Given the description of an element on the screen output the (x, y) to click on. 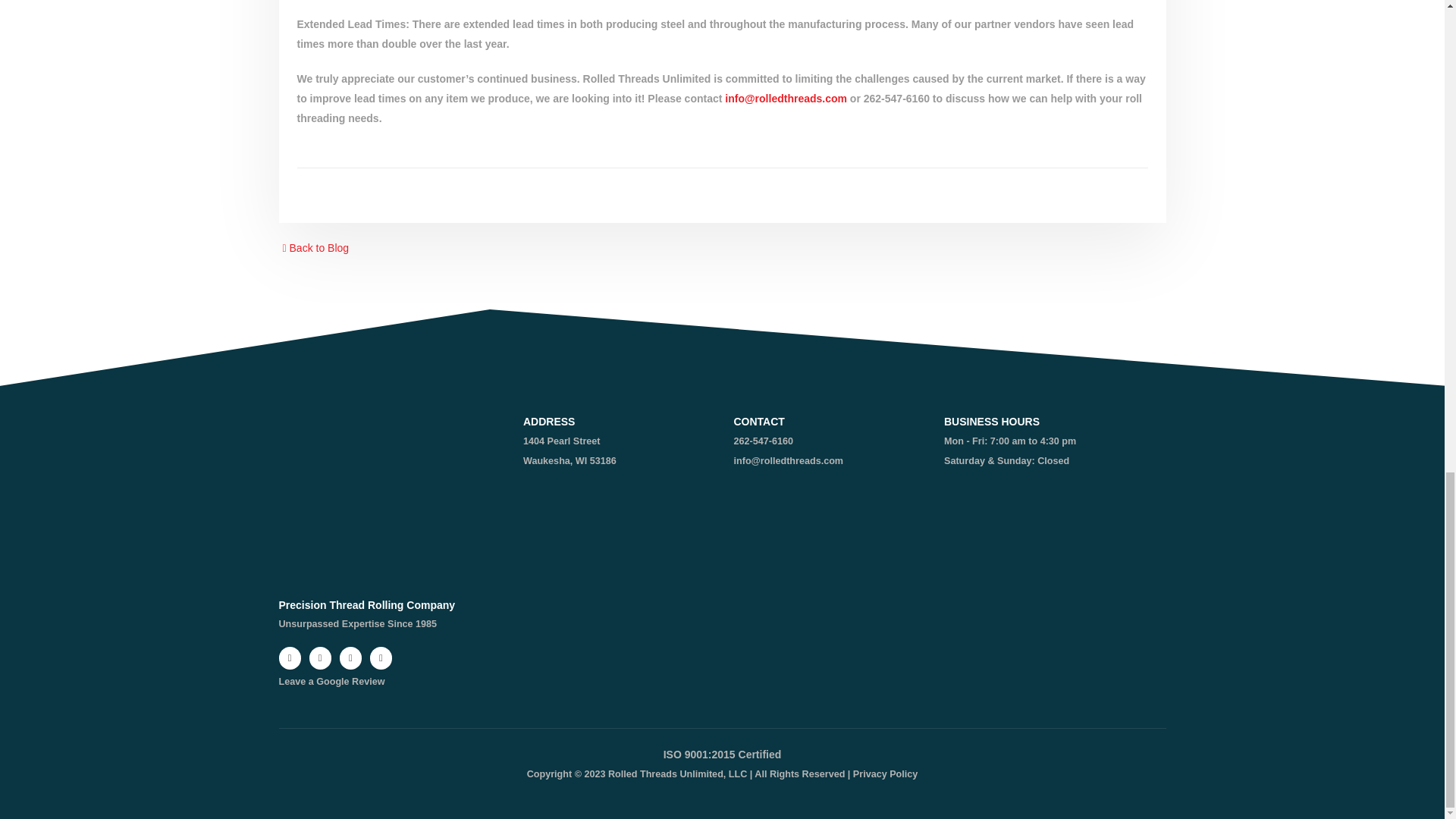
LinkedIn (380, 658)
Facebook (290, 658)
Twitter (319, 658)
Youtube (350, 658)
